Given the description of an element on the screen output the (x, y) to click on. 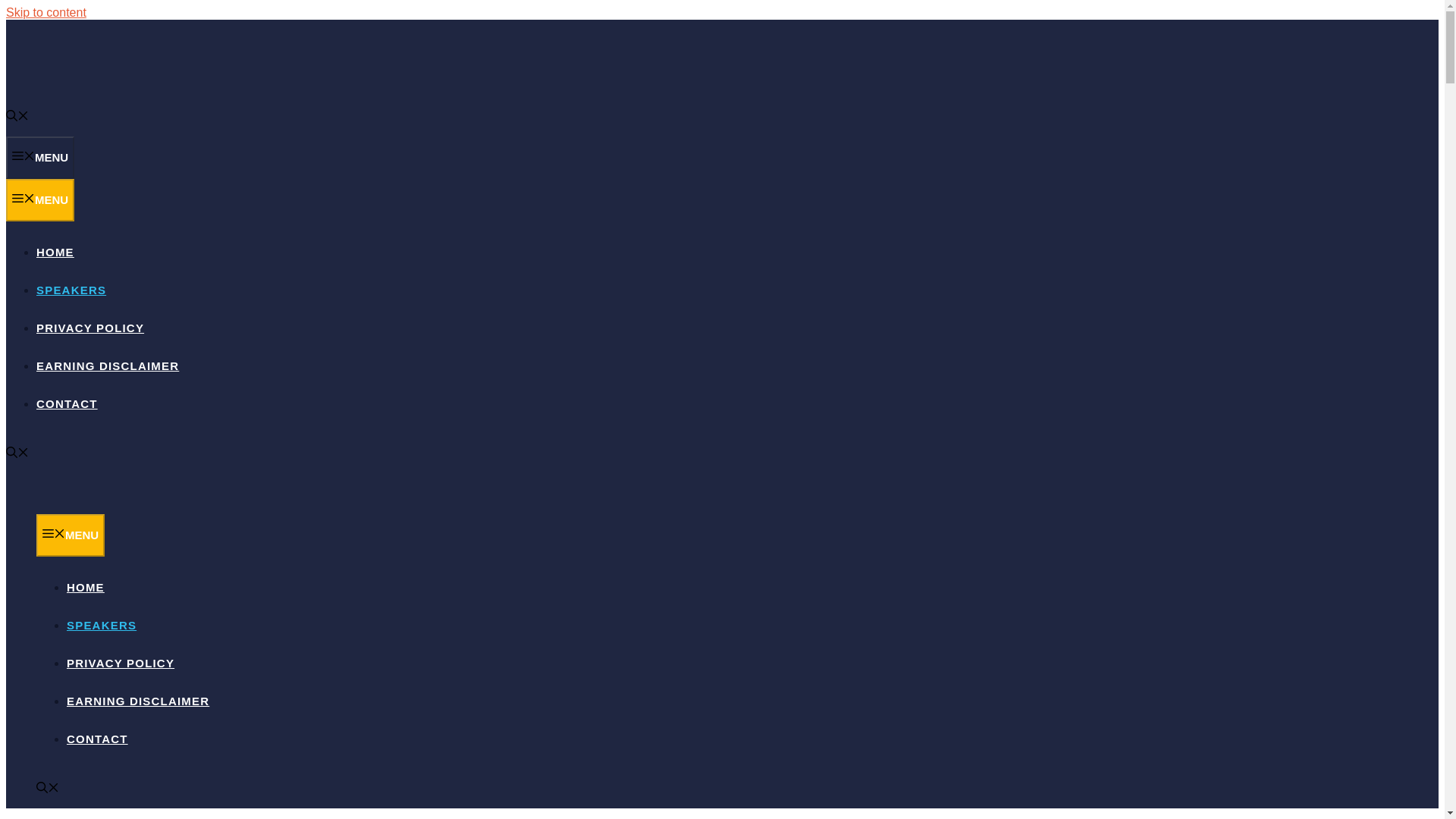
MENU (39, 200)
SPEAKERS (71, 289)
PRIVACY POLICY (120, 662)
CONTACT (66, 403)
HOME (55, 251)
Speakers in Code (130, 506)
SPEAKERS (101, 625)
HOME (85, 586)
Skip to content (45, 11)
MENU (70, 535)
